Given the description of an element on the screen output the (x, y) to click on. 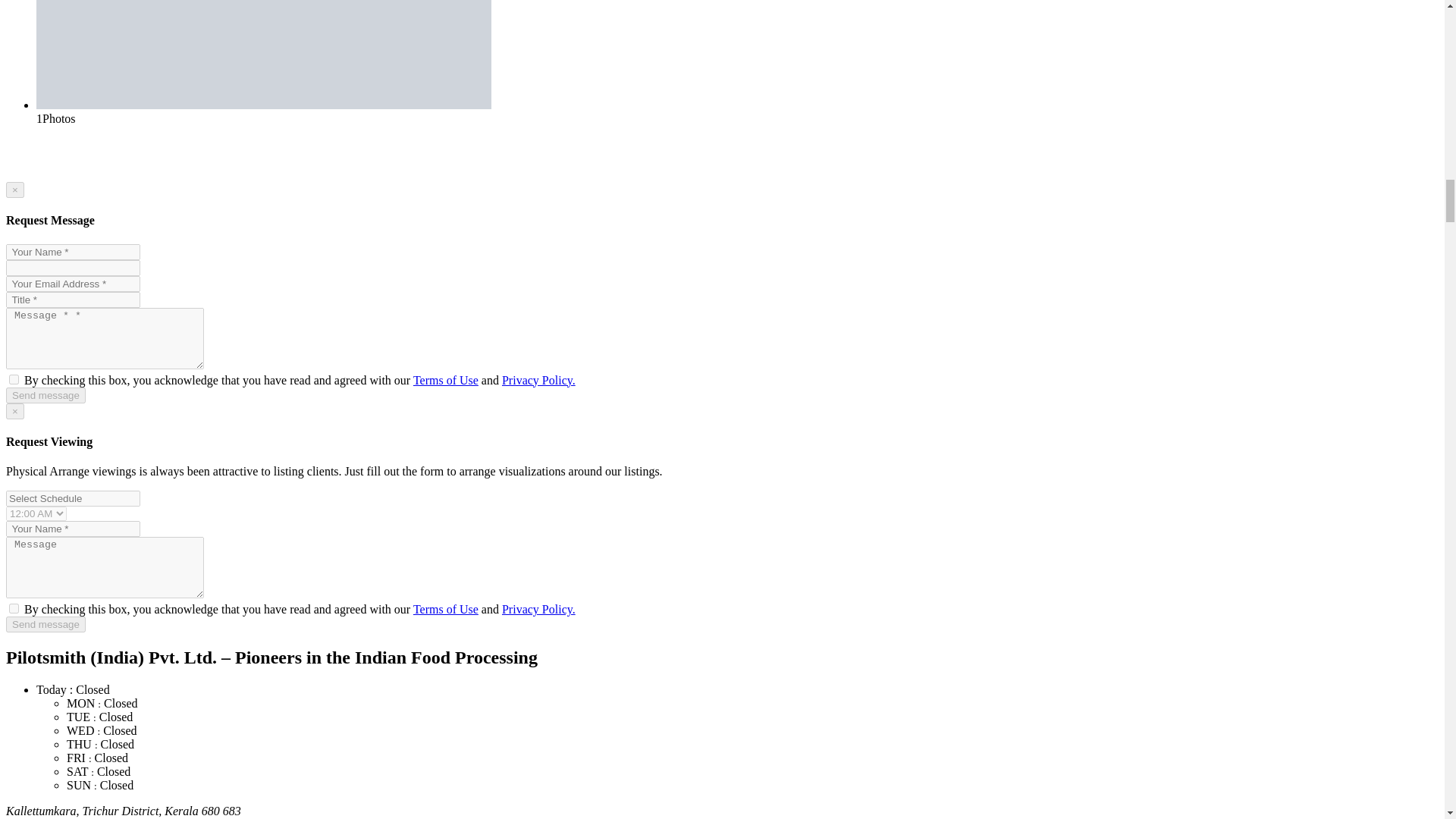
Send message (45, 624)
on (13, 608)
Send message (45, 395)
on (13, 379)
